Given the description of an element on the screen output the (x, y) to click on. 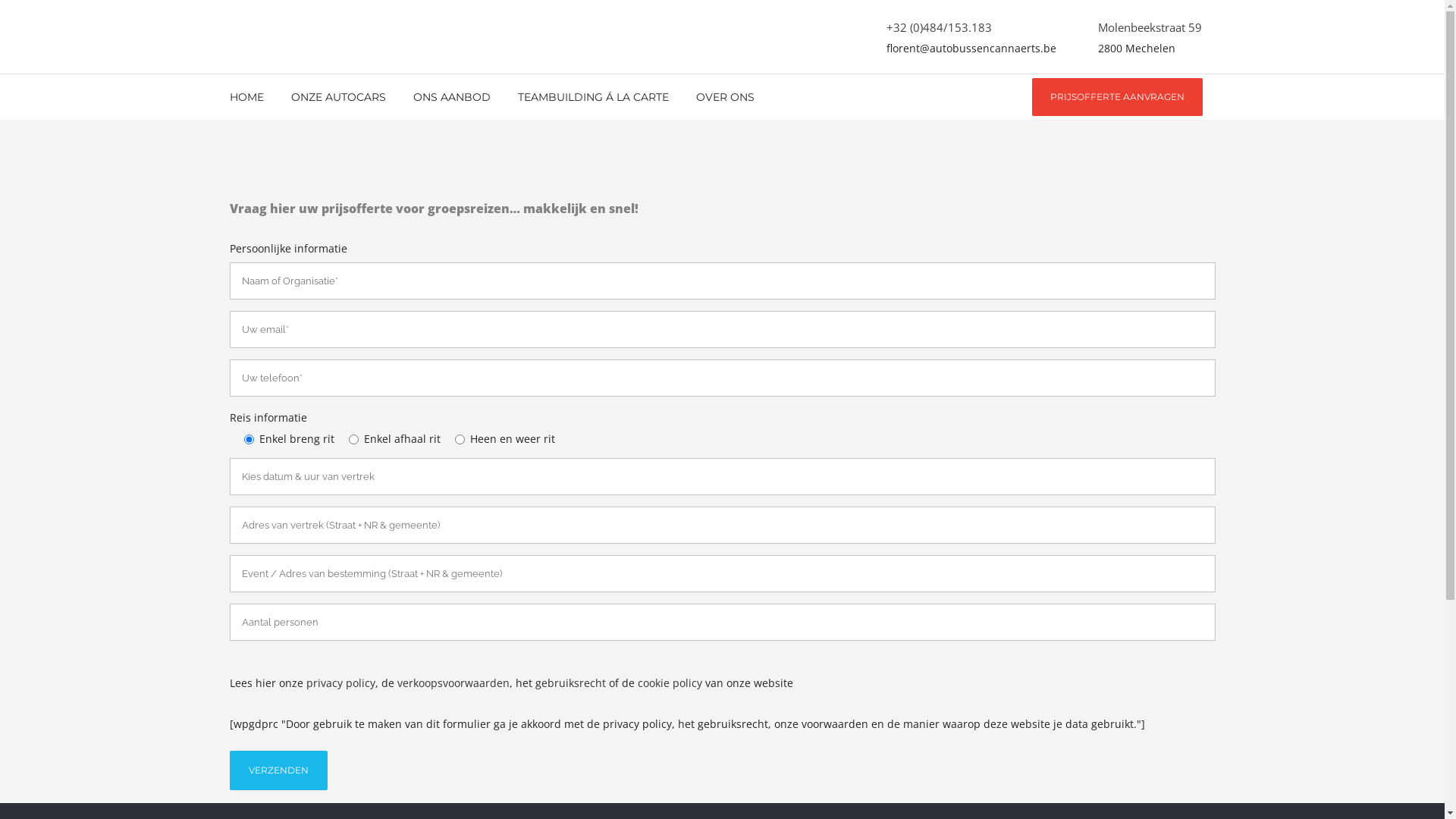
Verzenden Element type: text (277, 770)
gebruiksrecht Element type: text (570, 682)
ONS AANBOD Element type: text (450, 96)
ONZE AUTOCARS Element type: text (338, 96)
OVER ONS Element type: text (725, 96)
HOME Element type: text (252, 96)
verkoopsvoorwaarden Element type: text (453, 682)
PRIJSOFFERTE AANVRAGEN Element type: text (1116, 97)
privacy policy Element type: text (340, 682)
cookie policy Element type: text (669, 682)
